Given the description of an element on the screen output the (x, y) to click on. 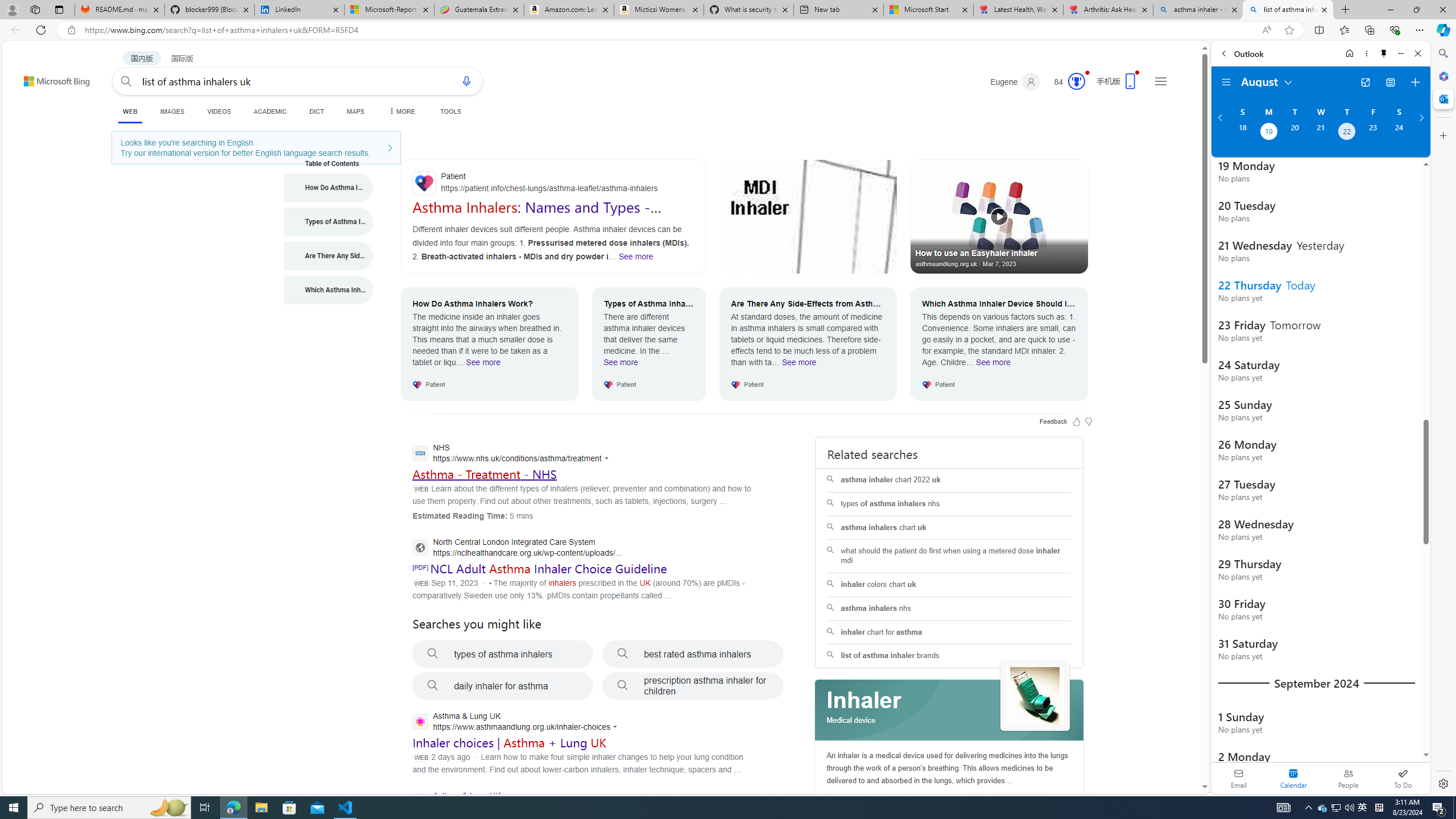
types of asthma inhalers nhs (949, 504)
TOOLS (450, 111)
MAPS (355, 111)
inhaler colors chart uk (949, 584)
Asthma - Treatment - NHS (484, 473)
Microsoft Rewards 84 (1065, 81)
asthma inhaler chart 2022 uk (949, 480)
DICT (316, 111)
ACADEMIC (269, 111)
Open in new tab (1365, 82)
Back to Bing search (50, 78)
